Given the description of an element on the screen output the (x, y) to click on. 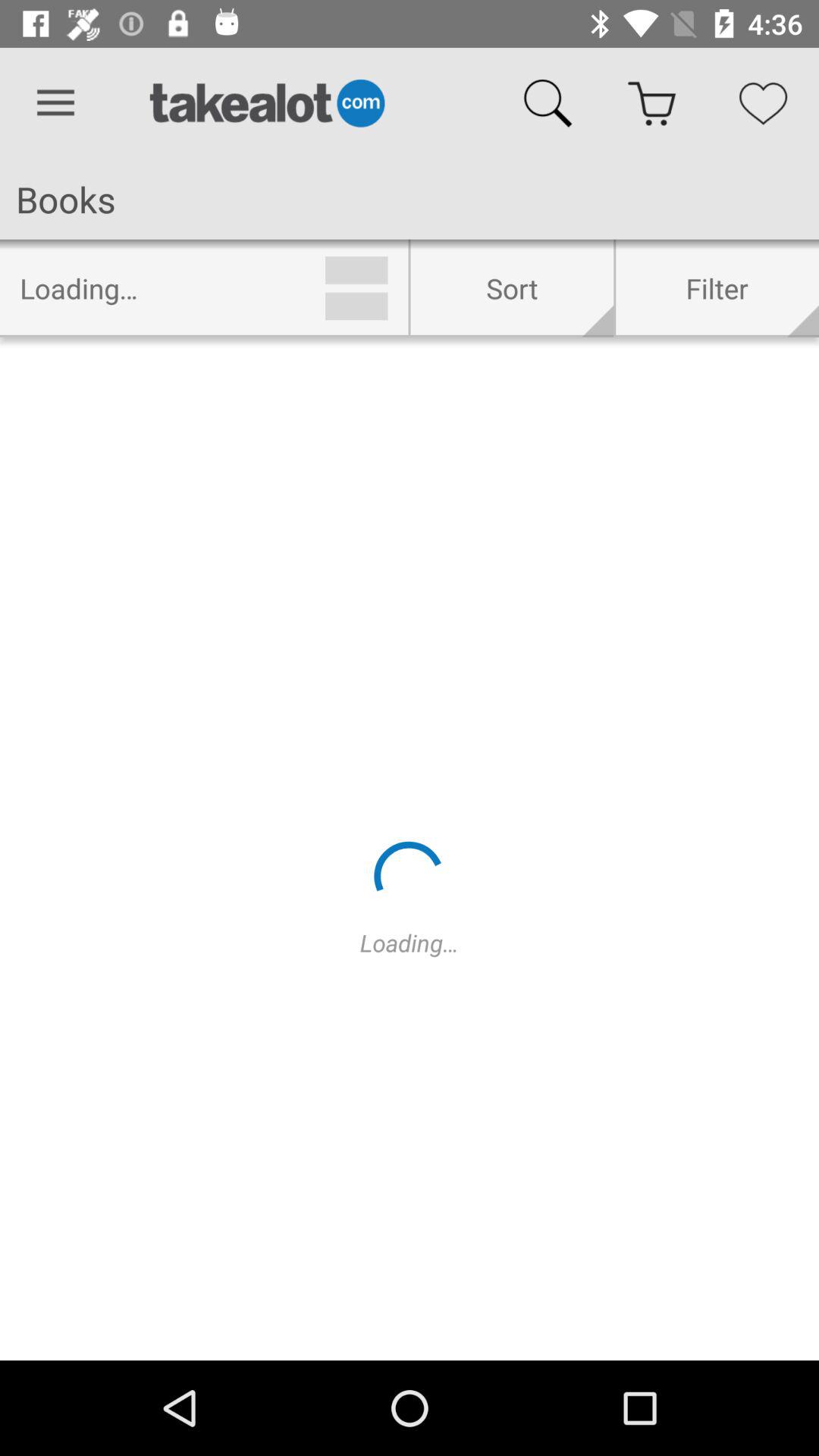
turn off the icon above books item (55, 103)
